Given the description of an element on the screen output the (x, y) to click on. 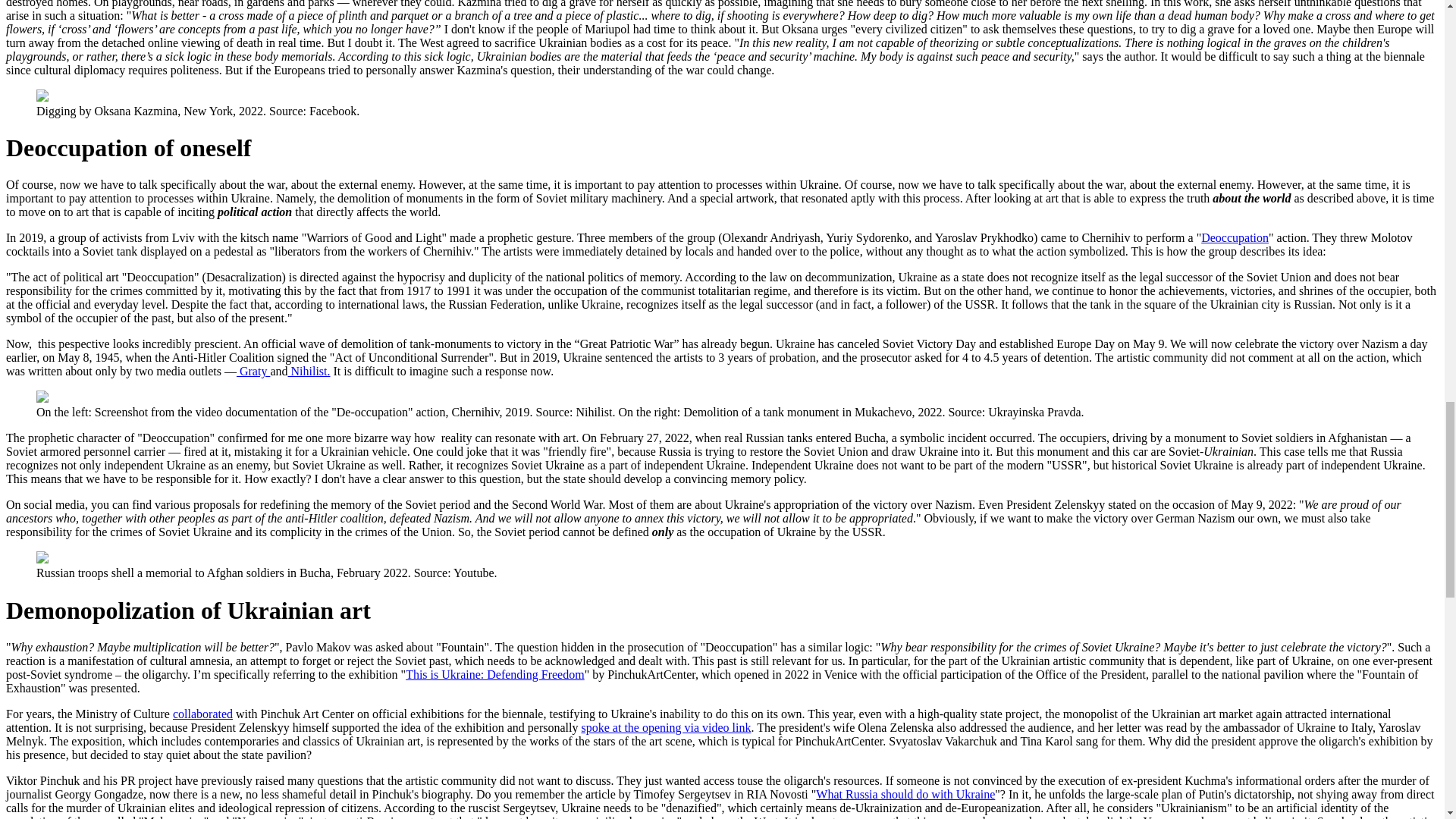
Graty (252, 370)
Nihilist. (309, 370)
Deoccupation (1234, 237)
